Given the description of an element on the screen output the (x, y) to click on. 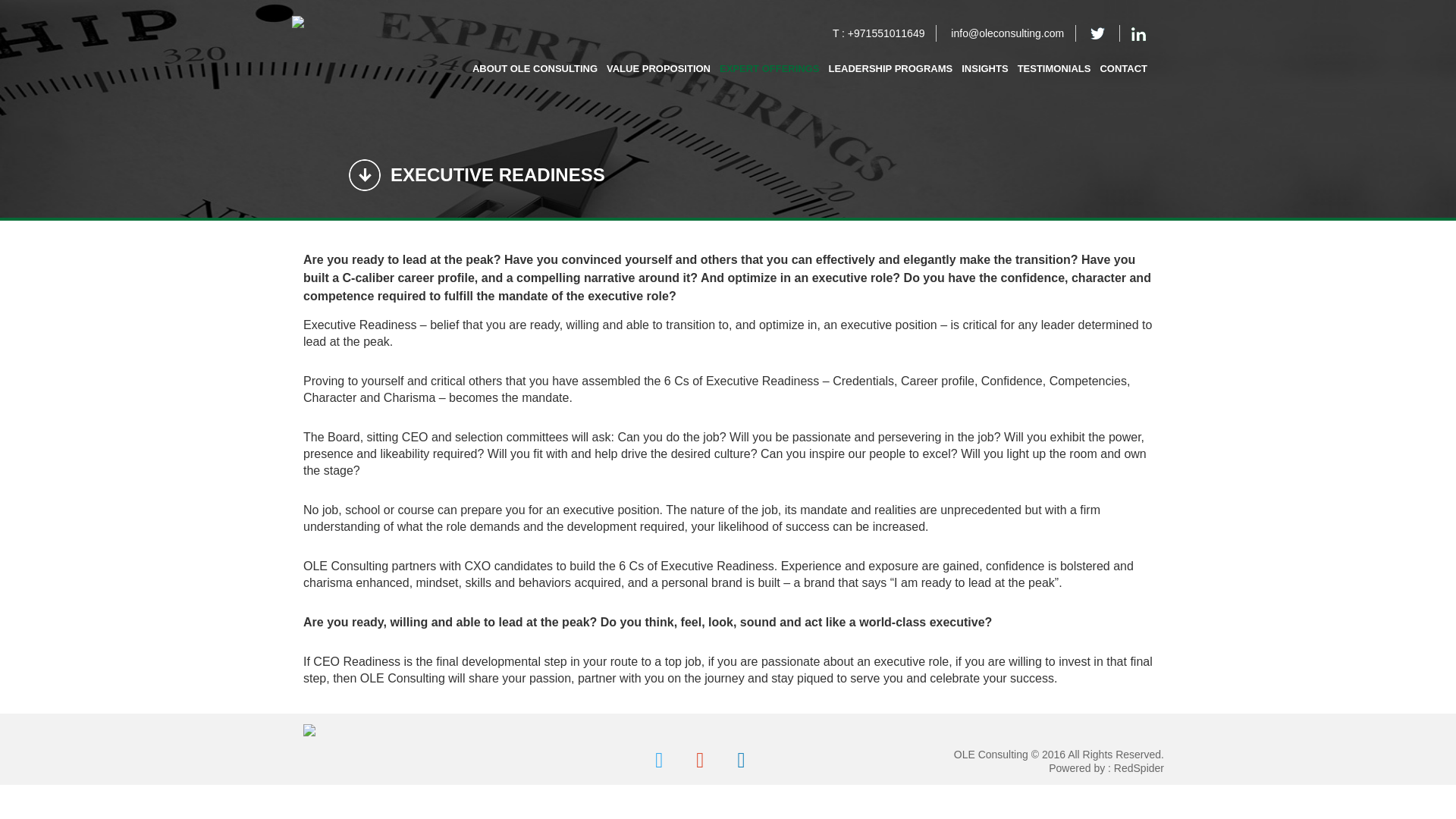
VALUE PROPOSITION (658, 68)
RedSpider (1138, 767)
LEADERSHIP PROGRAMS (890, 68)
CONTACT (1122, 68)
ABOUT OLE CONSULTING (536, 68)
INSIGHTS (983, 68)
TESTIMONIALS (1054, 68)
EXPERT OFFERINGS (769, 68)
